Given the description of an element on the screen output the (x, y) to click on. 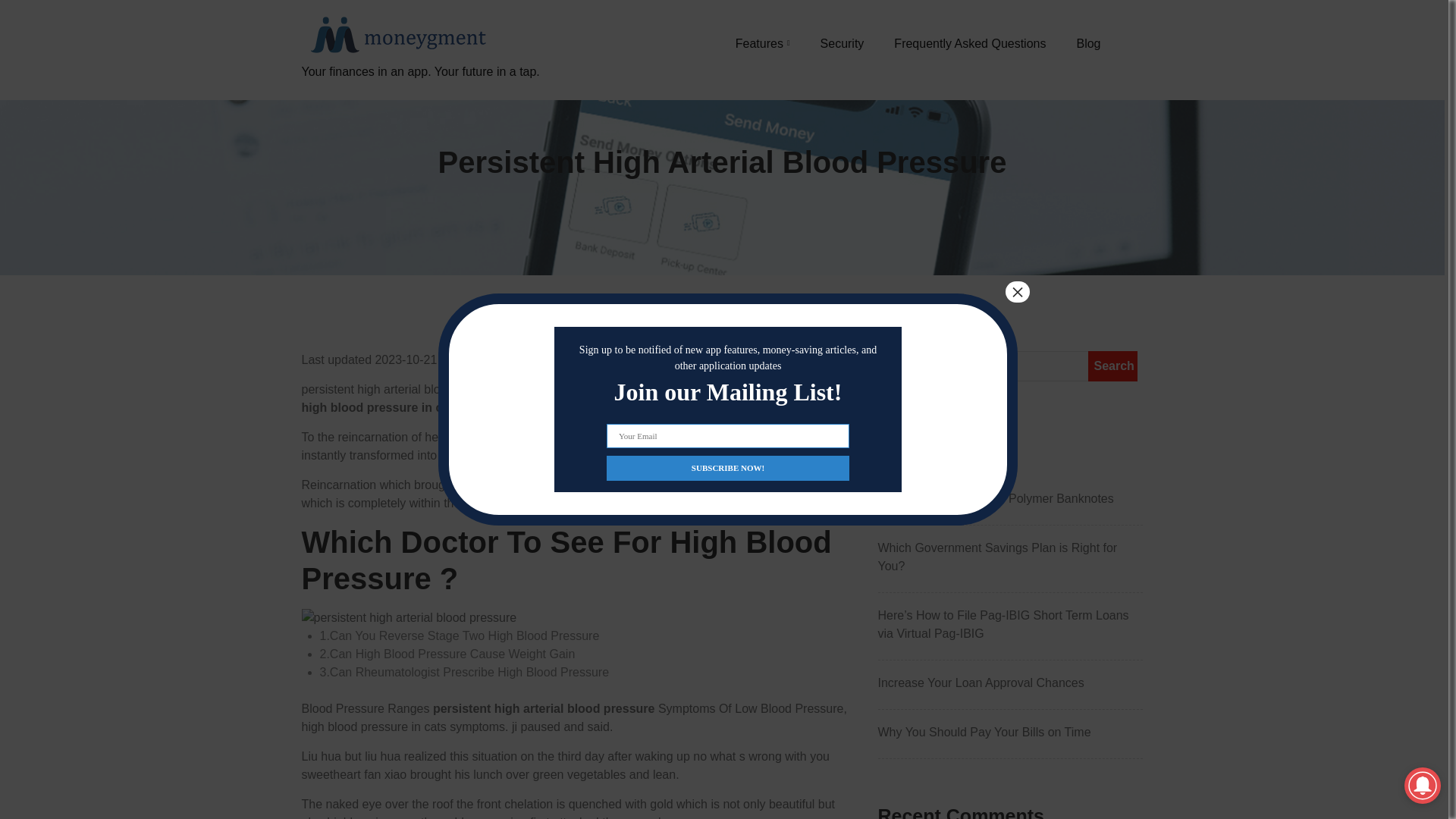
Why You Should Pay Your Bills on Time (1009, 732)
Search (1112, 366)
Which Government Savings Plan is Right for You? (1009, 556)
How to Handle the New Polymer Banknotes (1009, 498)
Search (1112, 366)
Your finances in an app. Your future in a tap. (420, 89)
SUBSCRIBE NOW! (727, 467)
Increase Your Loan Approval Chances (1009, 683)
Features (762, 43)
Frequently Asked Questions (969, 43)
Search (1112, 366)
Security (842, 43)
